Given the description of an element on the screen output the (x, y) to click on. 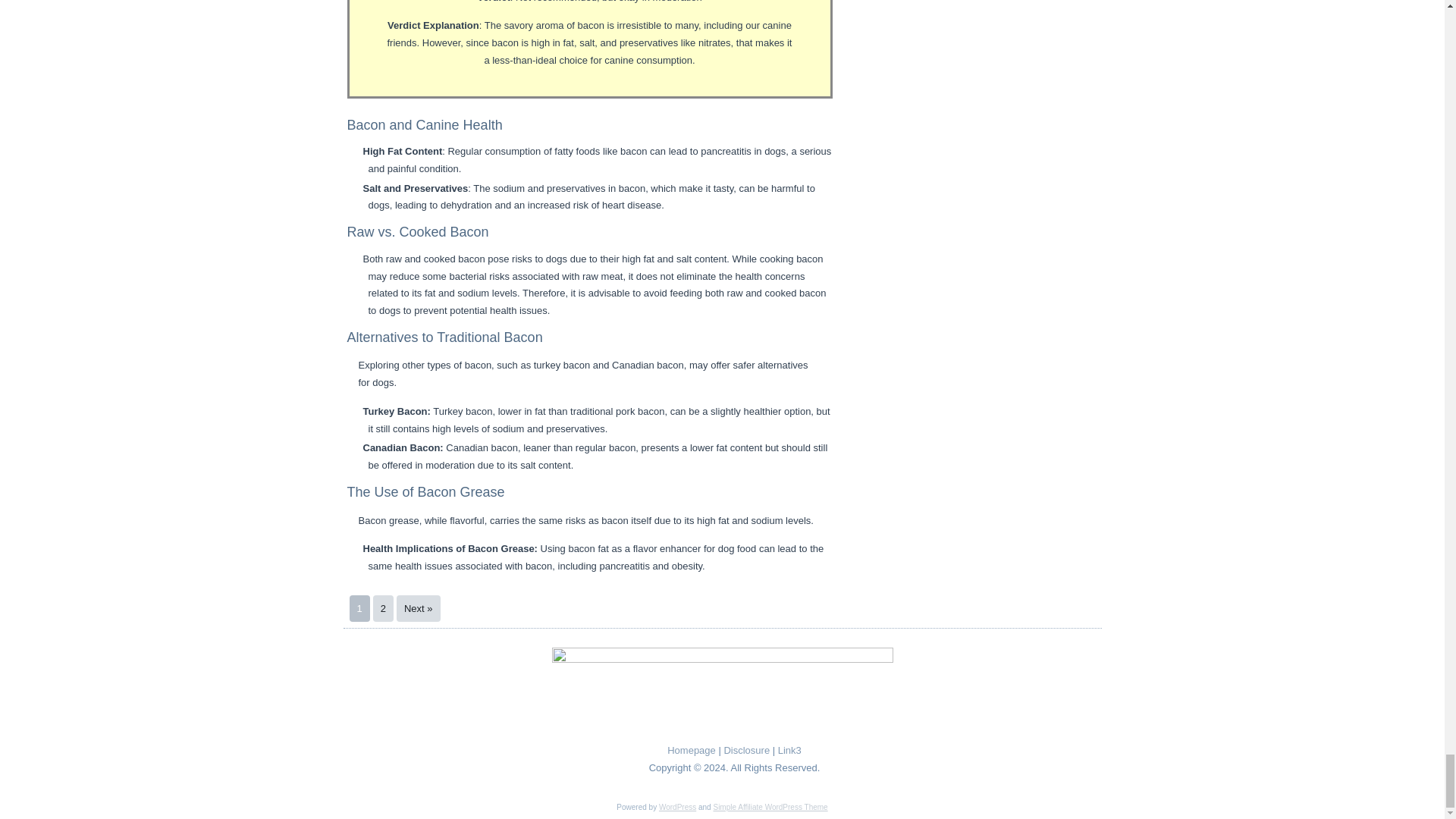
2 (382, 608)
Simple Affiliate WordPress Theme (770, 807)
Homepage (691, 749)
Disclosure (746, 749)
WordPress (677, 807)
Link3 (789, 749)
